Given the description of an element on the screen output the (x, y) to click on. 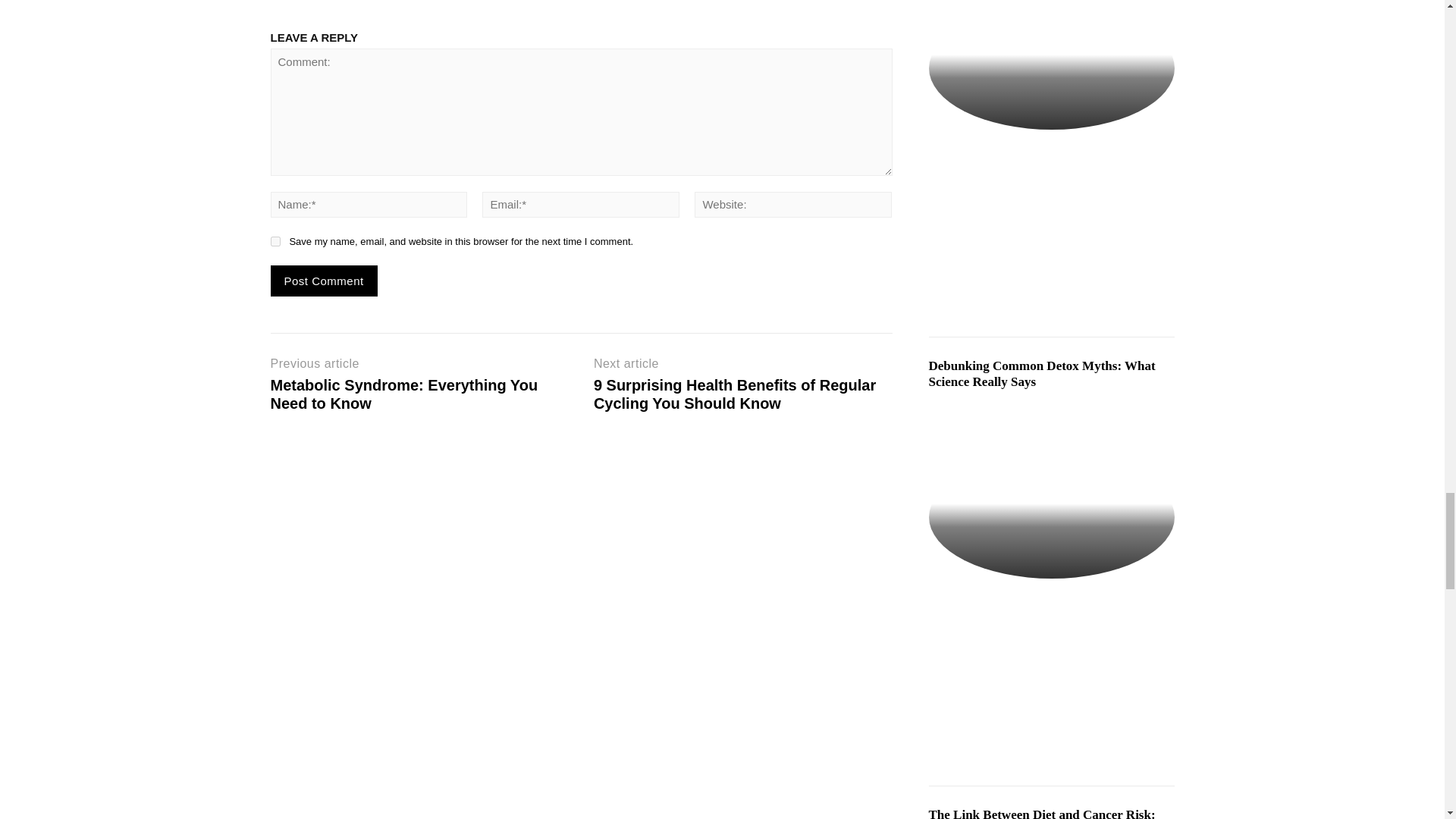
Debunking Common Detox Myths: What Science Really Says (1041, 373)
yes (274, 241)
Post Comment (323, 280)
Debunking Common Detox Myths: What Science Really Says (1050, 516)
